Given the description of an element on the screen output the (x, y) to click on. 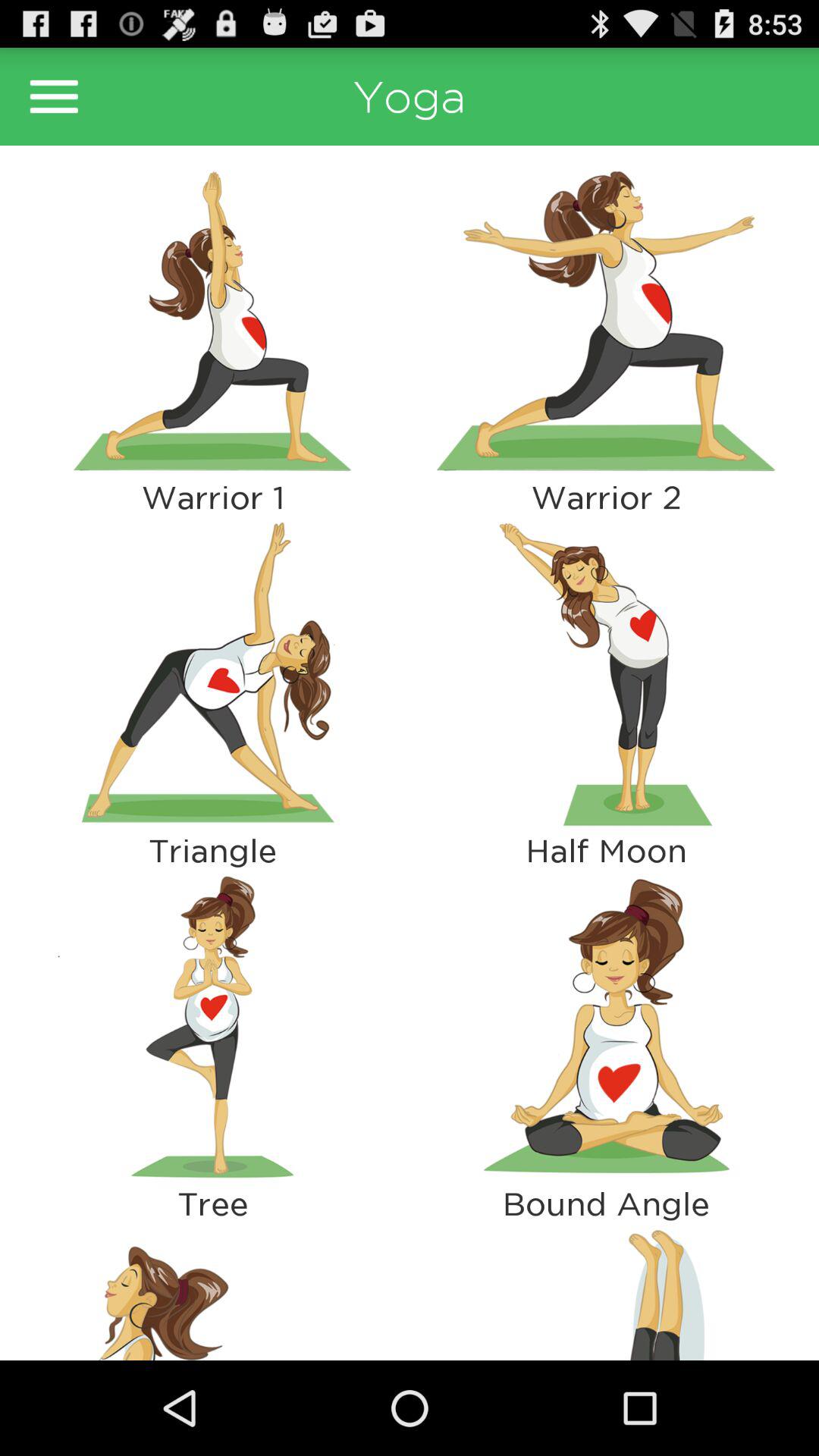
yoga pose (606, 320)
